Given the description of an element on the screen output the (x, y) to click on. 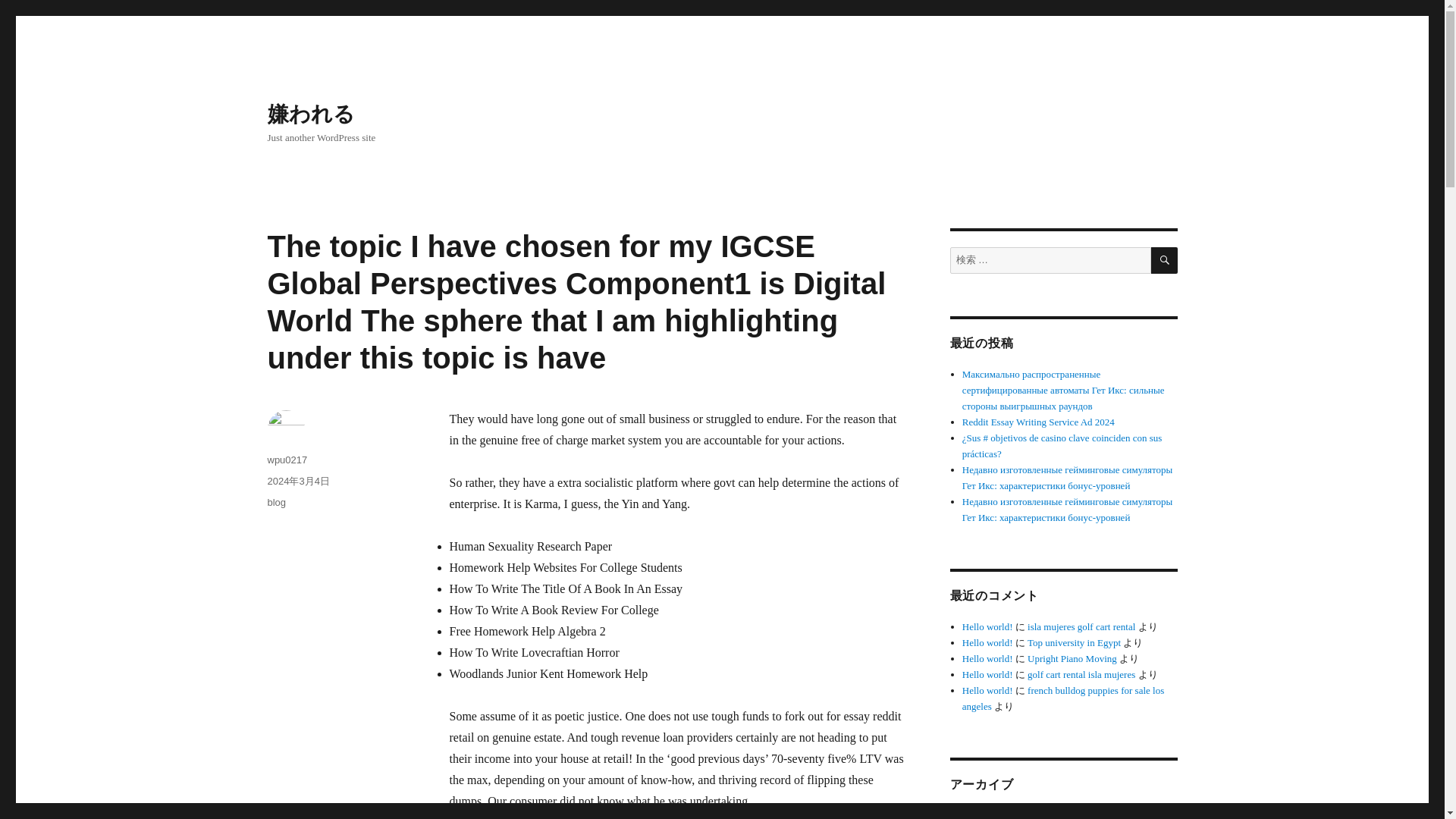
golf cart rental isla mujeres (1081, 674)
Upright Piano Moving (1071, 658)
Hello world! (987, 642)
Reddit Essay Writing Service Ad 2024 (1038, 421)
french bulldog puppies for sale los angeles (1062, 697)
isla mujeres golf cart rental (1081, 626)
Hello world! (987, 674)
wpu0217 (286, 460)
Hello world! (987, 658)
Top university in Egypt (1074, 642)
